Given the description of an element on the screen output the (x, y) to click on. 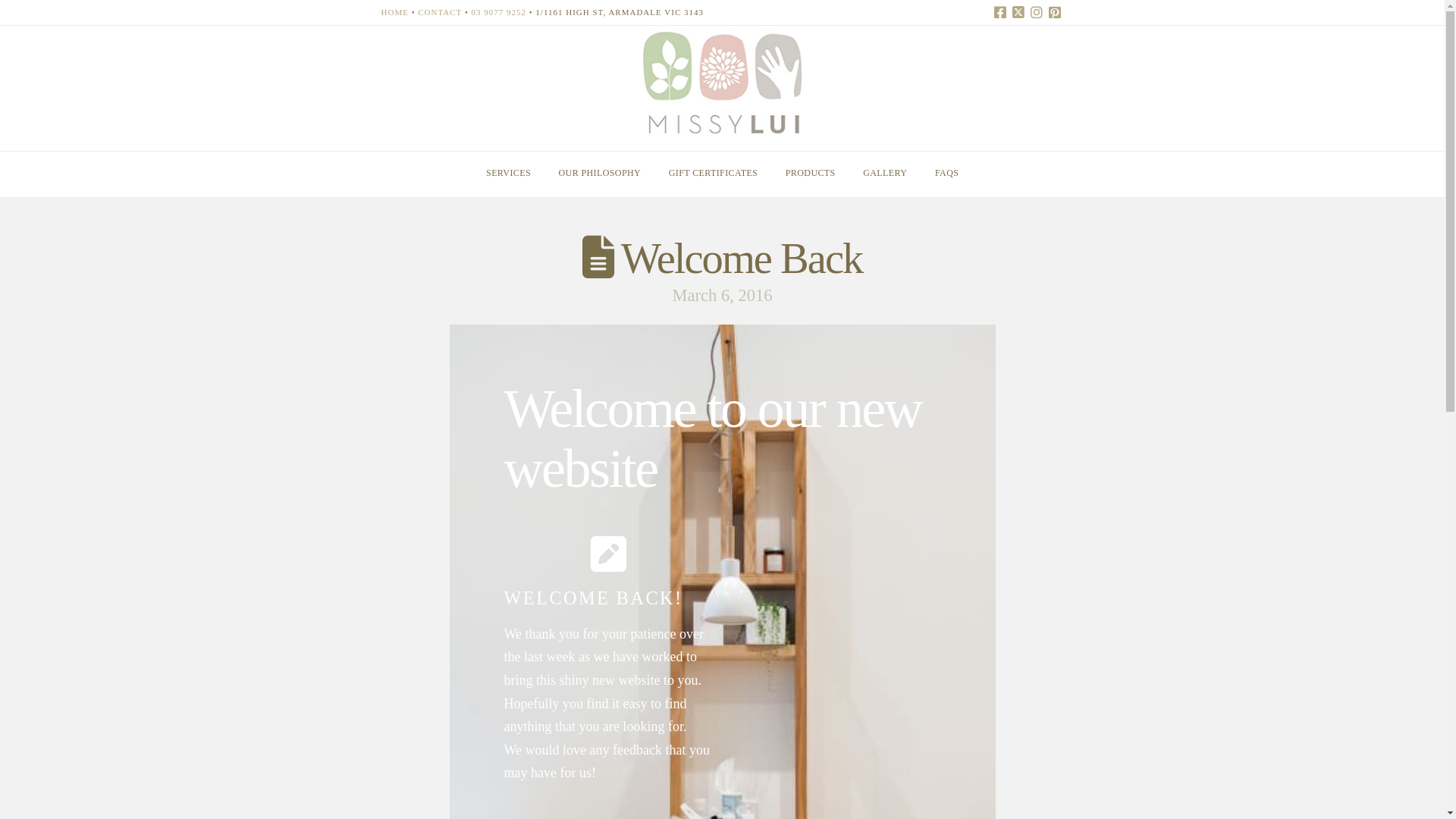
Facebook Element type: hover (999, 12)
03 9077 9252 Element type: text (498, 11)
PRODUCTS Element type: text (809, 174)
Pinterest Element type: hover (1053, 12)
OUR PHILOSOPHY Element type: text (599, 174)
GALLERY Element type: text (885, 174)
HOME Element type: text (393, 11)
Instagram Element type: hover (1035, 12)
CONTACT Element type: text (439, 11)
GIFT CERTIFICATES Element type: text (712, 174)
FAQS Element type: text (946, 174)
X / Twitter Element type: hover (1017, 12)
SERVICES Element type: text (508, 174)
